Given the description of an element on the screen output the (x, y) to click on. 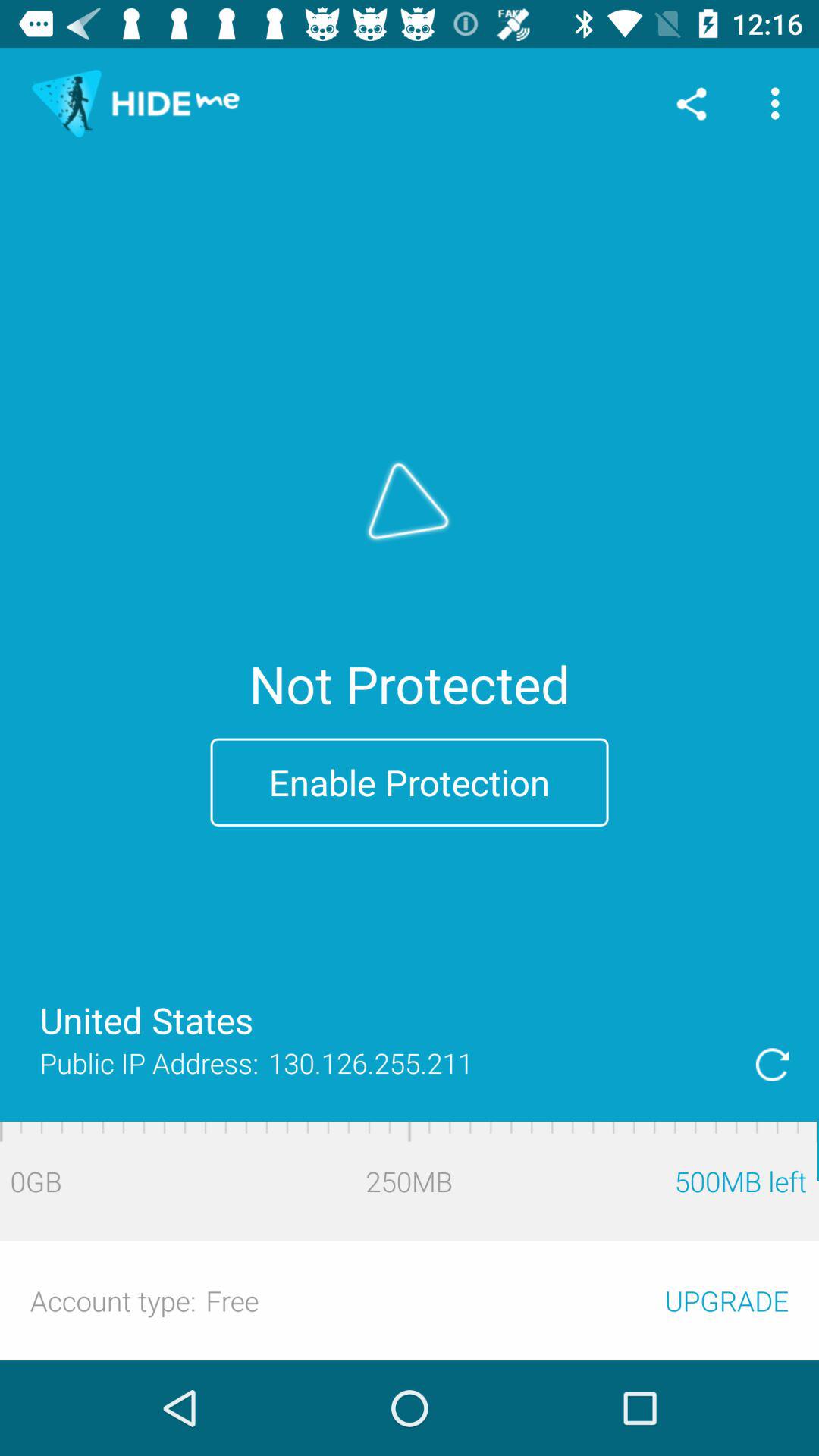
replay (772, 1064)
